Given the description of an element on the screen output the (x, y) to click on. 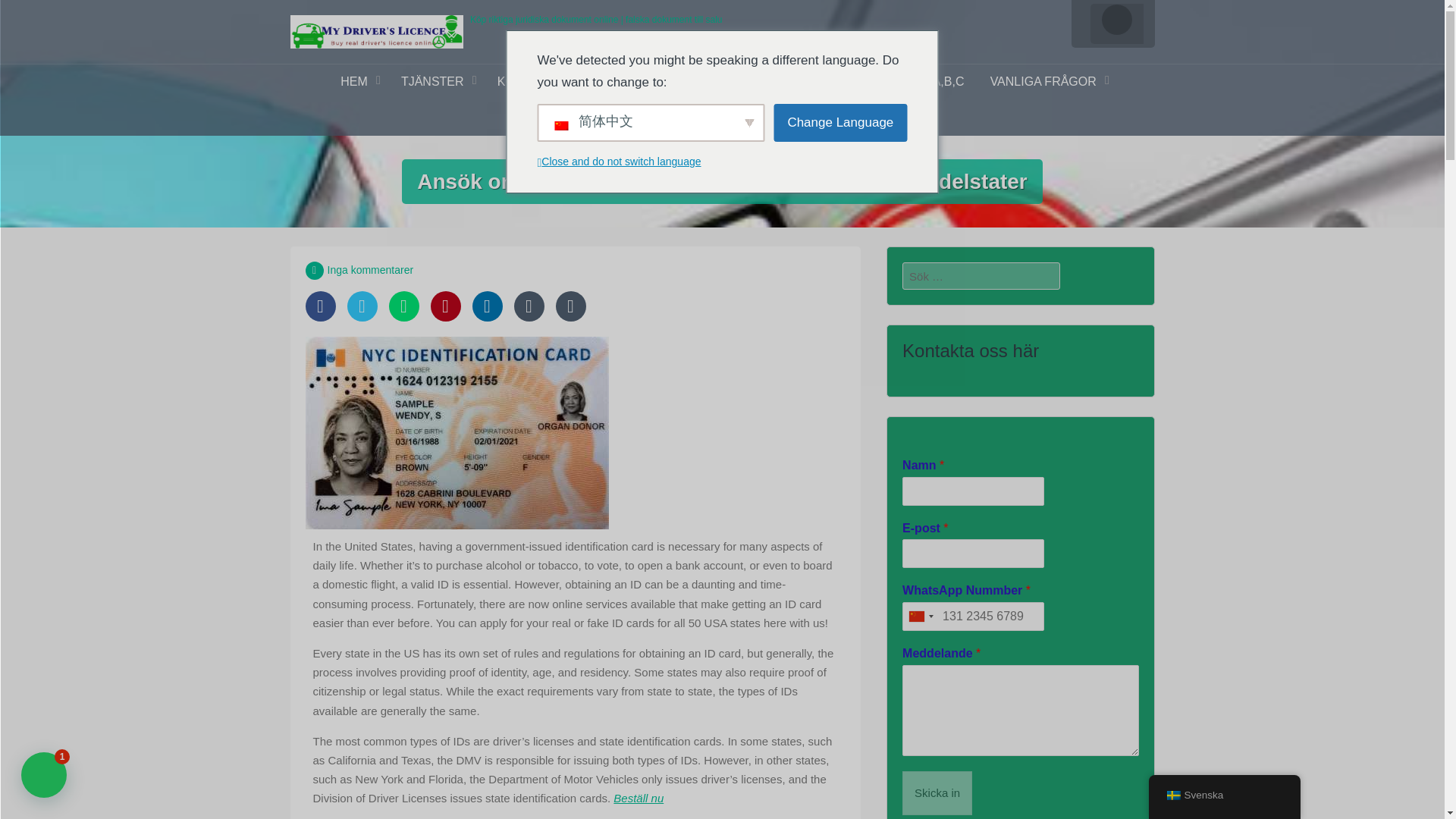
Twitter (362, 306)
WhatsApp (403, 306)
PASS (610, 81)
Svenska (1172, 795)
Facebook (319, 306)
Reddit (528, 306)
ALLA DOKUMENT (705, 81)
KONTAKTA OSS (805, 117)
Telegram (569, 306)
Pinterest (445, 306)
Inga kommentarer (370, 269)
HEM (358, 81)
Linkedin (486, 306)
